Given the description of an element on the screen output the (x, y) to click on. 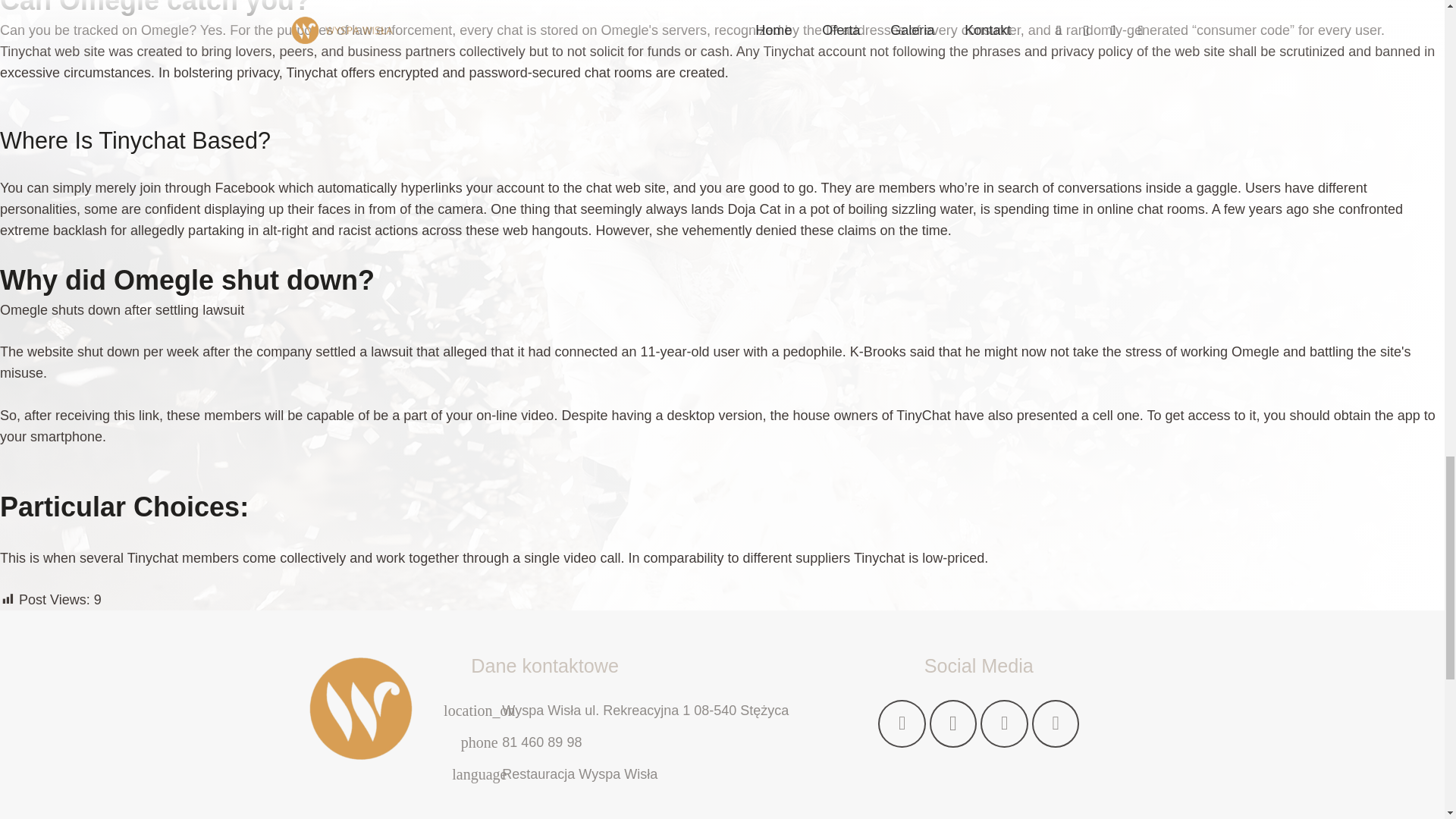
Instagram (953, 723)
Tripadvisor (1056, 723)
Facebook (901, 723)
81 460 89 98 (541, 742)
YouTube (1003, 723)
